Given the description of an element on the screen output the (x, y) to click on. 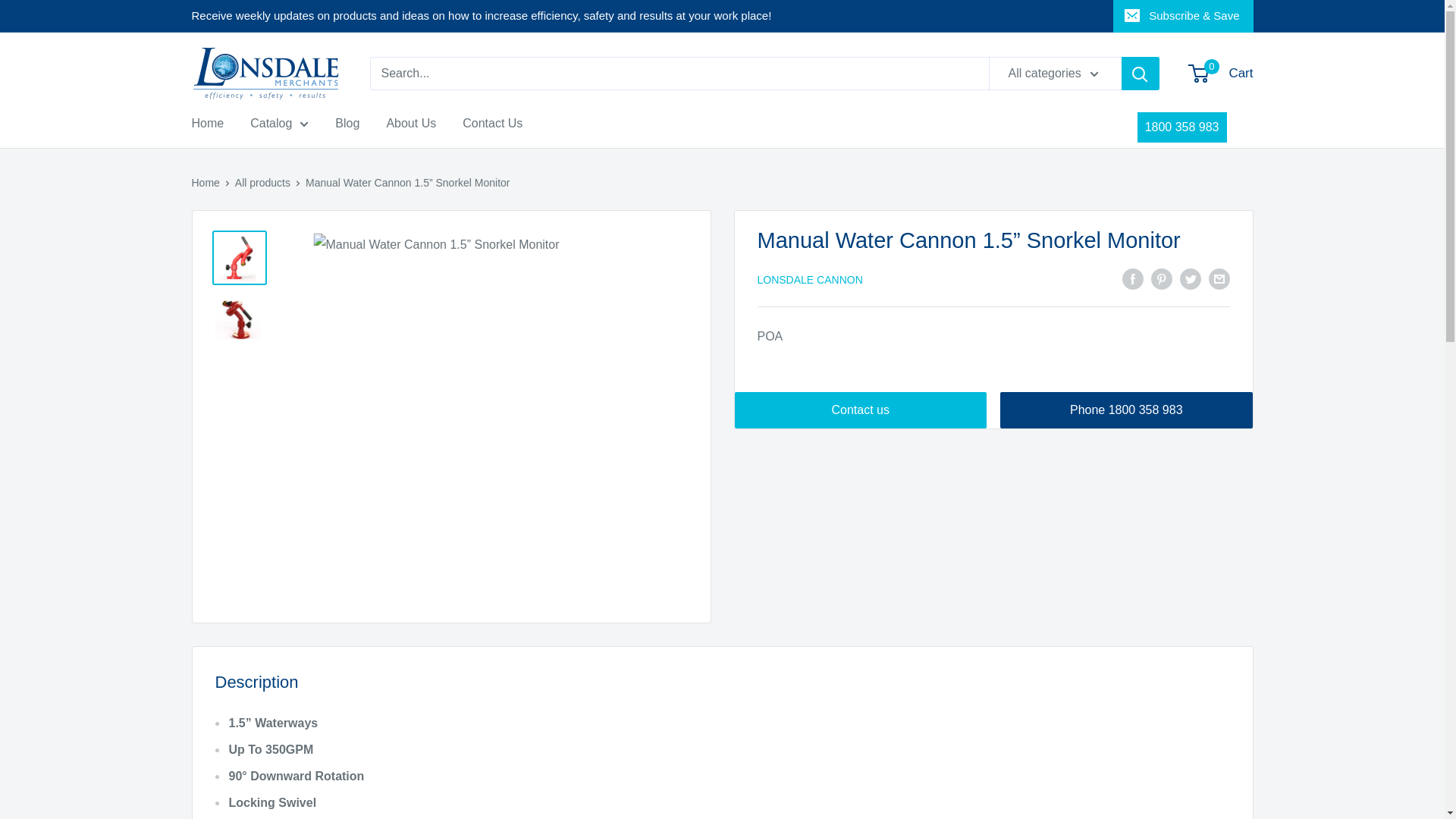
Blog (346, 123)
Catalog (279, 123)
Home (1221, 73)
About Us (207, 123)
